Given the description of an element on the screen output the (x, y) to click on. 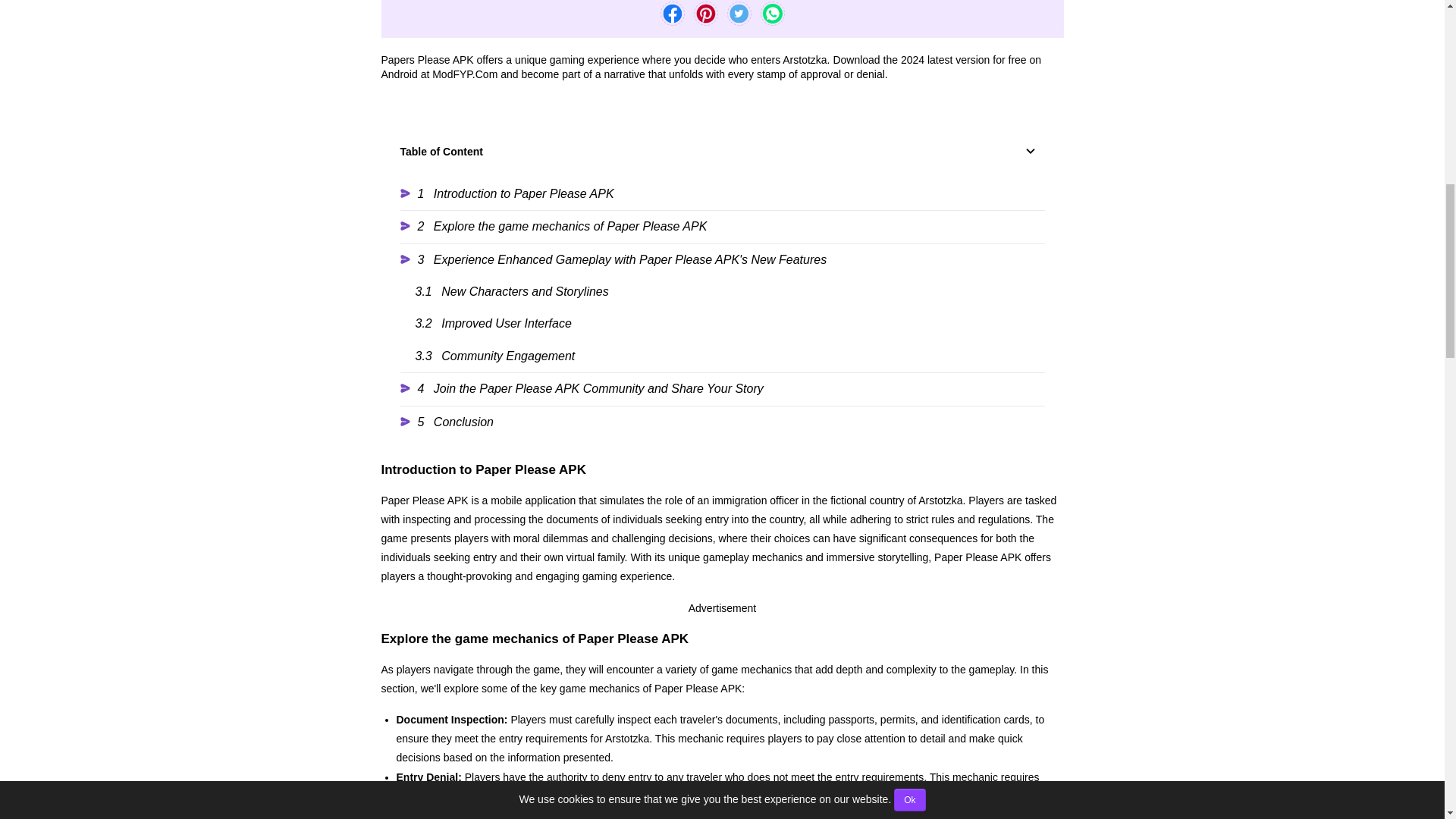
3.3 Community Engagement (729, 356)
1 Introduction to Paper Please APK (722, 193)
2 Explore the game mechanics of Paper Please APK (722, 225)
5 Conclusion (722, 421)
3.1 New Characters and Storylines (729, 291)
4 Join the Paper Please APK Community and Share Your Story (722, 388)
3.2 Improved User Interface (729, 323)
